Given the description of an element on the screen output the (x, y) to click on. 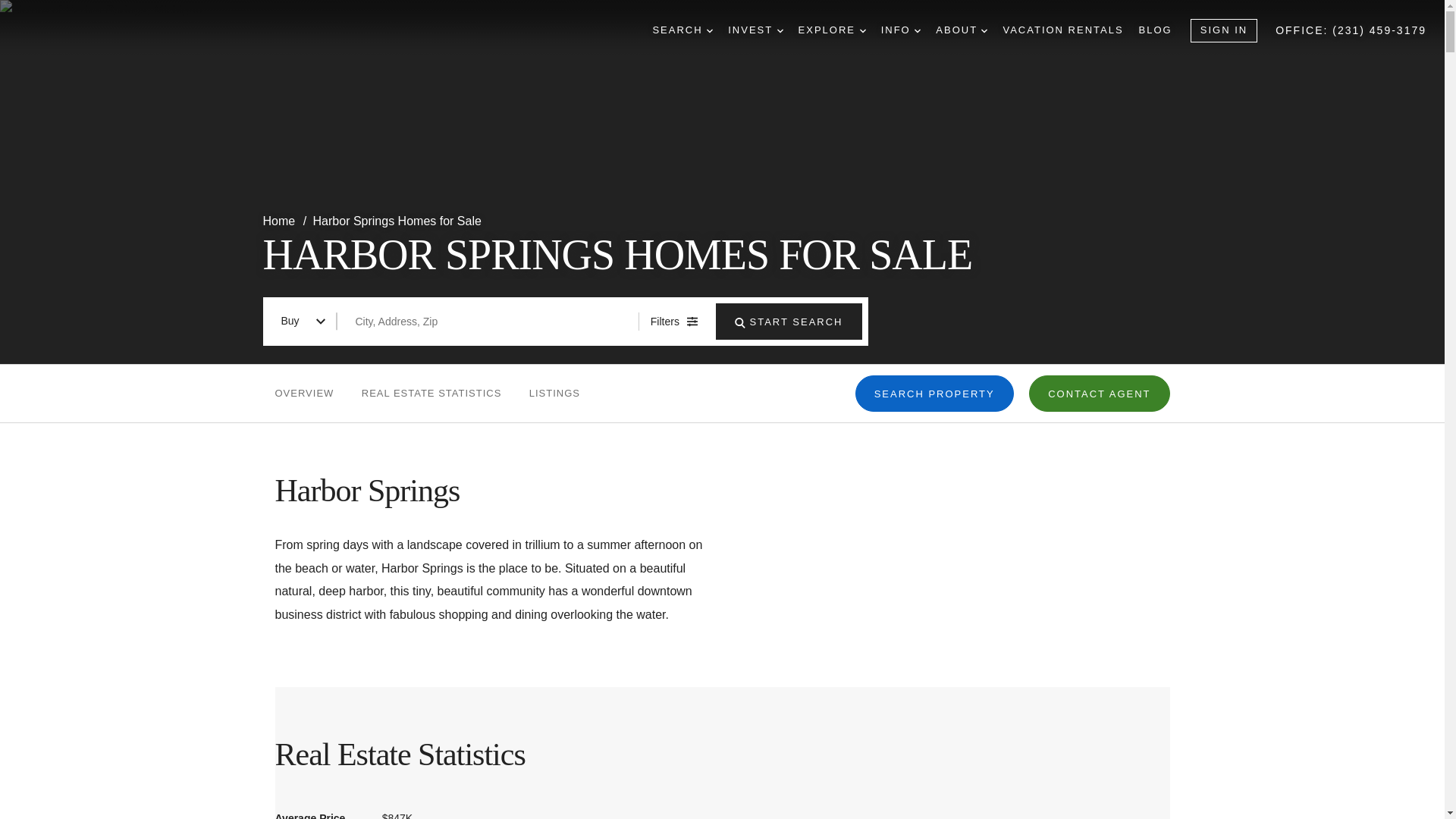
SEARCH DROPDOWN ARROW (682, 30)
SEARCH (740, 322)
DROPDOWN ARROW (709, 30)
INVEST DROPDOWN ARROW (755, 30)
INFO DROPDOWN ARROW (900, 30)
DROPDOWN ARROW (780, 30)
DROPDOWN ARROW (984, 30)
DROPDOWN ARROW (863, 30)
EXPLORE DROPDOWN ARROW (831, 30)
DROPDOWN ARROW (917, 30)
